Given the description of an element on the screen output the (x, y) to click on. 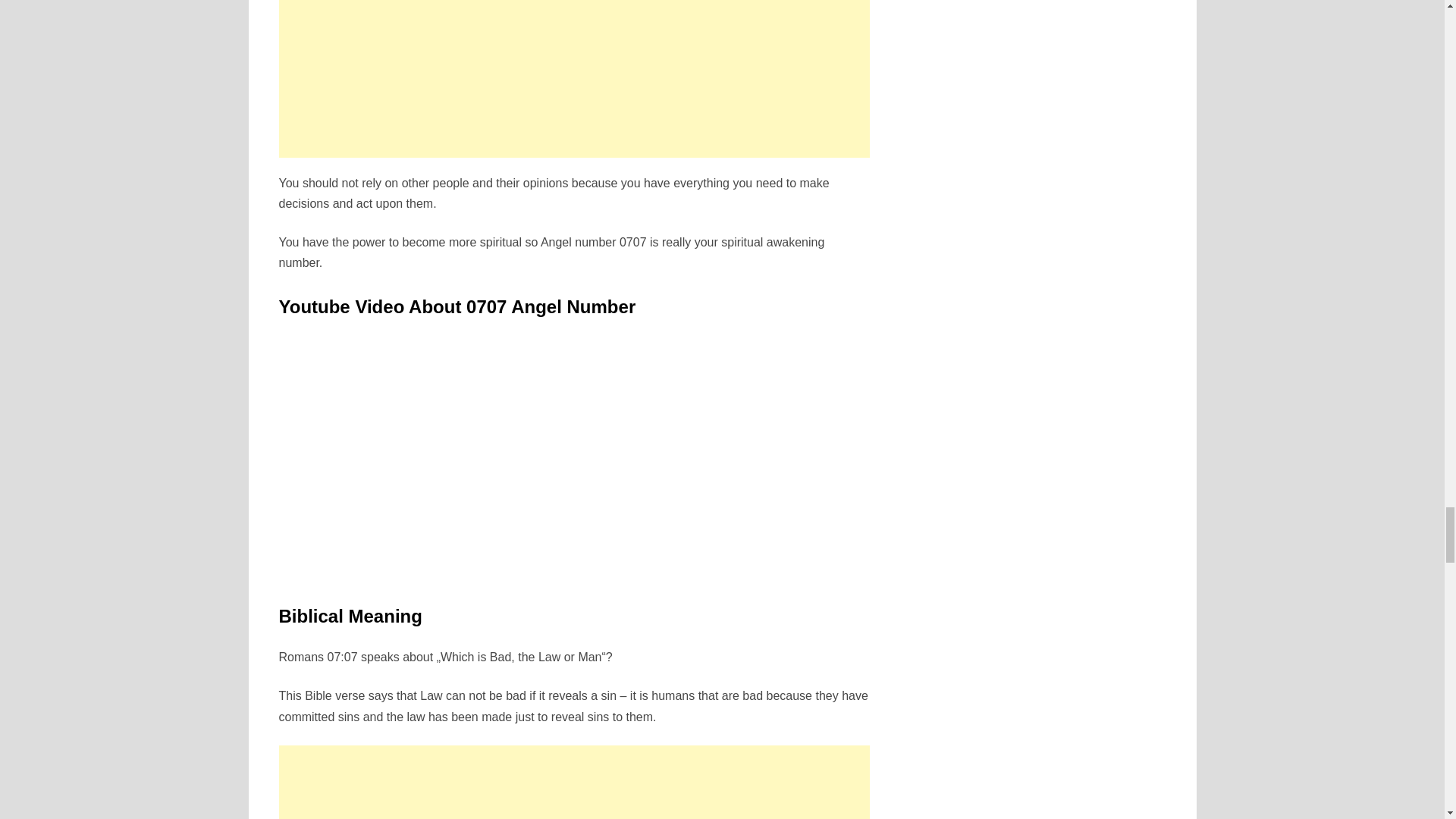
YouTube video player (491, 456)
